Given the description of an element on the screen output the (x, y) to click on. 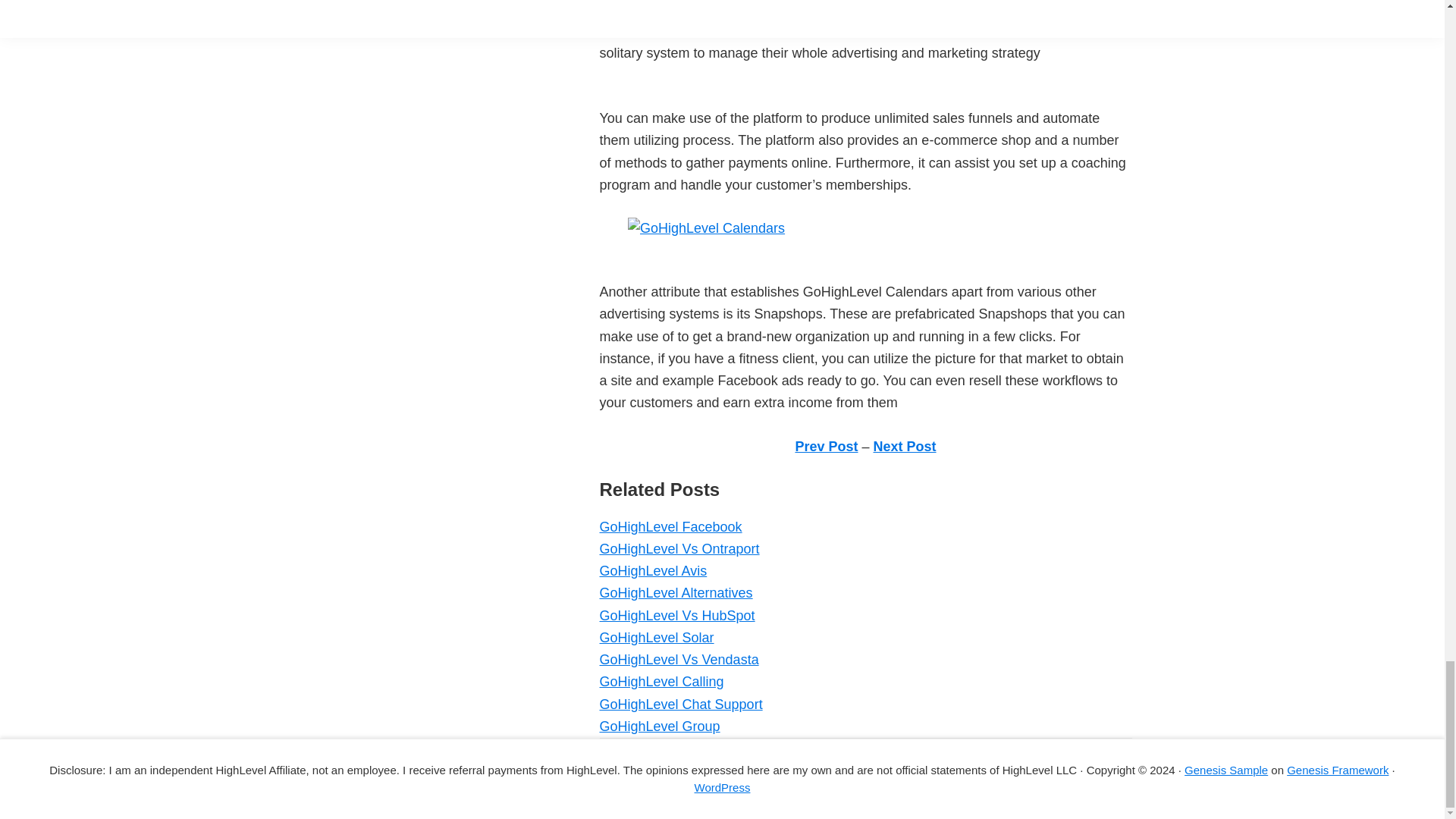
GoHighLevel Solar (655, 637)
GoHighLevel Alternatives (675, 592)
Prev Post (825, 446)
GoHighLevel Vs Ontraport (678, 548)
GoHighLevel Avis (652, 570)
Next Post (904, 446)
GoHighLevel Facebook (669, 526)
GoHighLevel Vs Vendasta (678, 659)
GoHighLevel Alternatives (675, 592)
GoHighLevel Solar (655, 637)
